Given the description of an element on the screen output the (x, y) to click on. 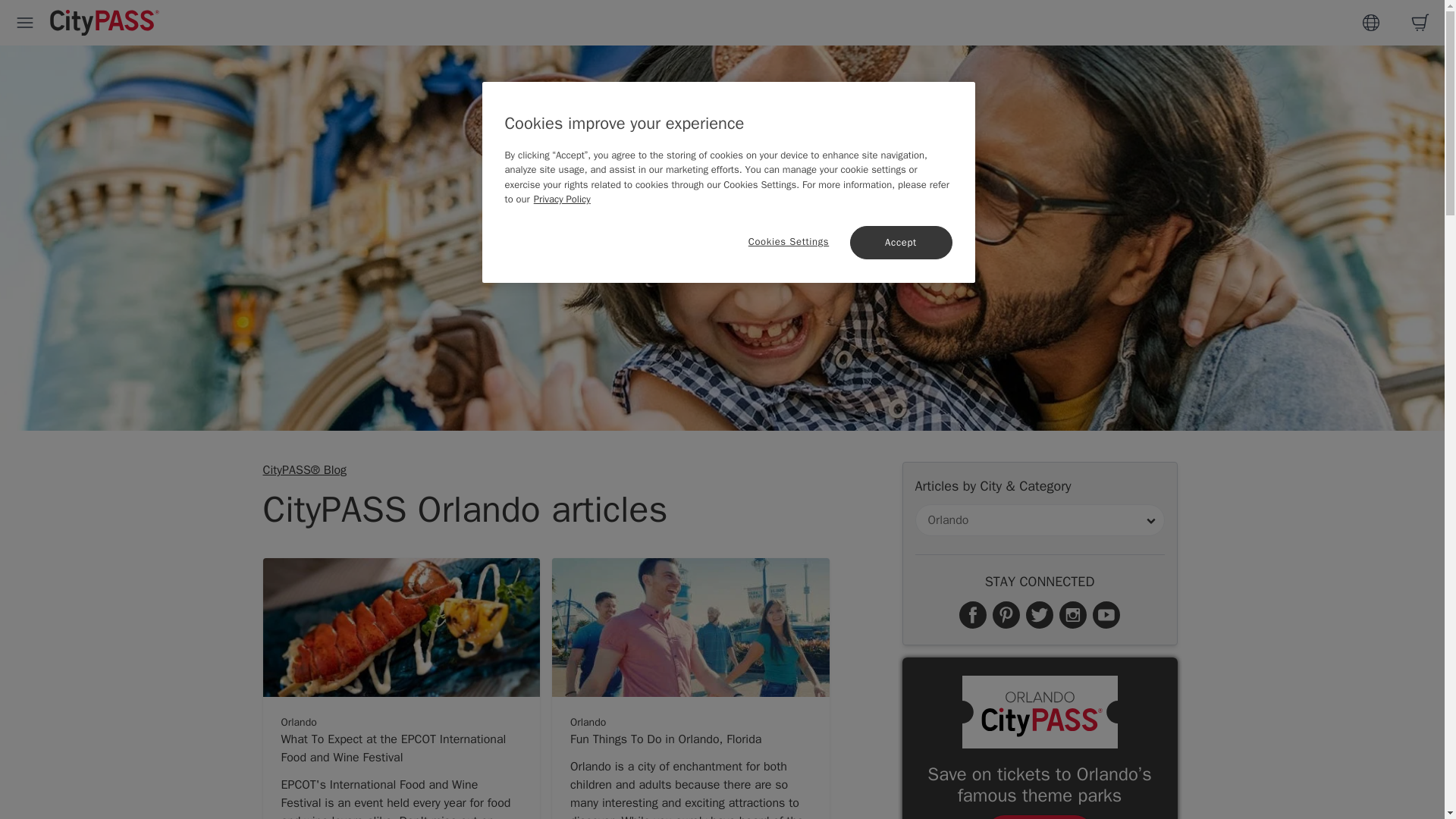
Fun Things To Do in Orlando, Florida (690, 743)
Orlando CityPASS (1039, 711)
Menu (25, 22)
Buy Now (1039, 816)
pinterest (1006, 614)
twitter (1040, 614)
Buy Now (1039, 816)
CityPASS (104, 23)
instagram (1073, 614)
Guide (1370, 22)
shopping-cart-1s (1419, 22)
facebook (973, 614)
youtube (1105, 614)
